Given the description of an element on the screen output the (x, y) to click on. 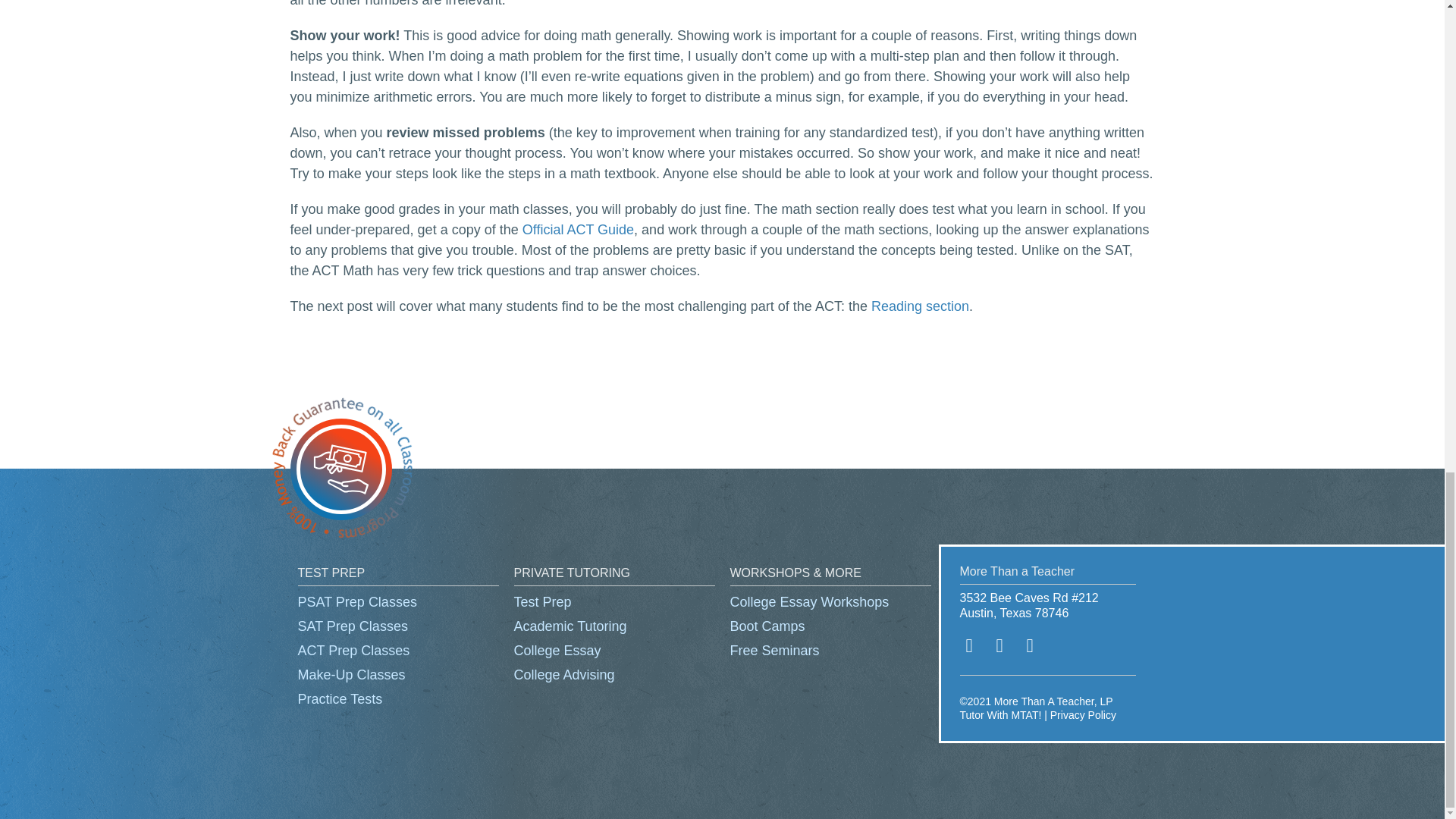
The ACT Part 4: Reading (919, 305)
